Given the description of an element on the screen output the (x, y) to click on. 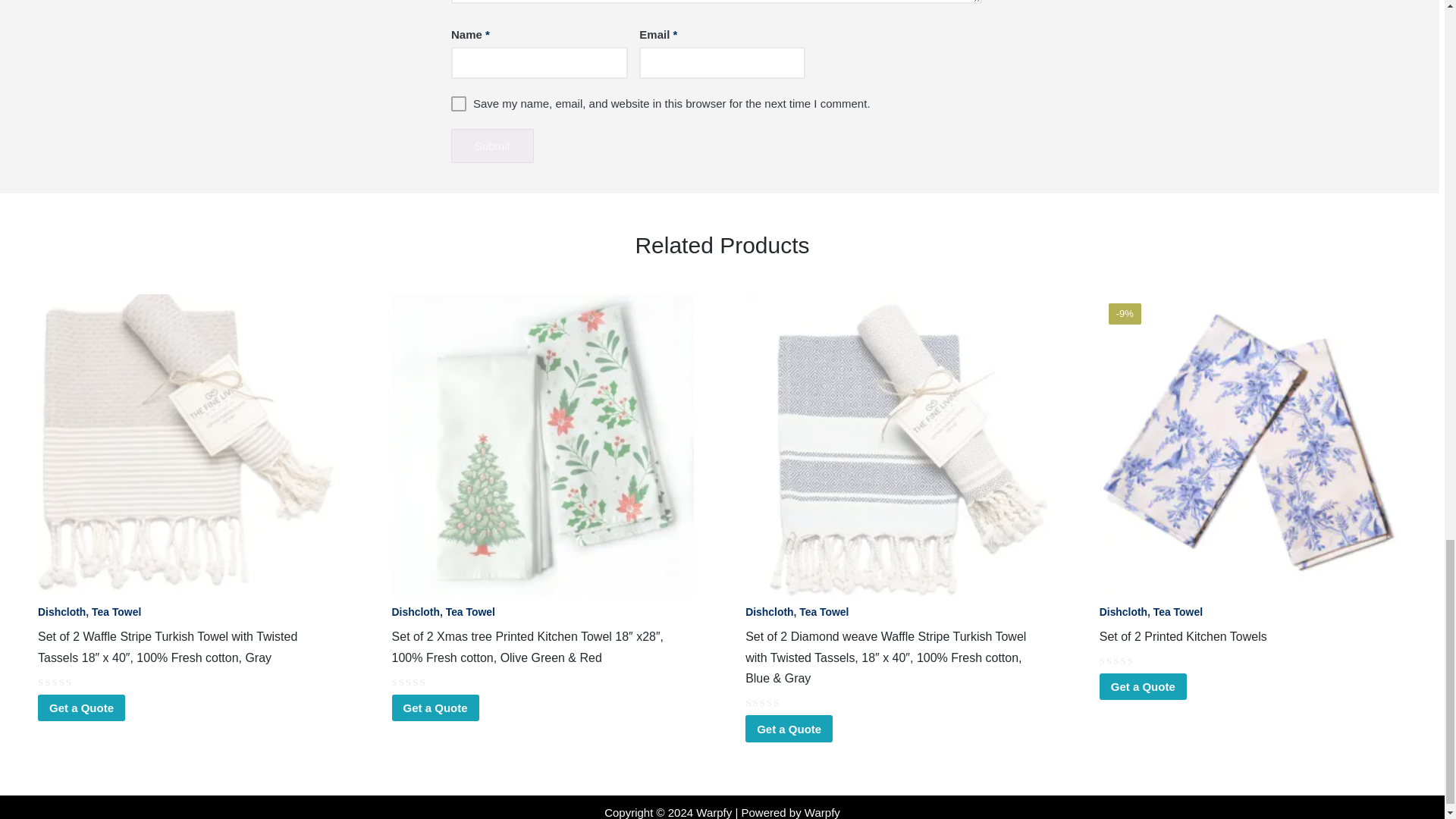
Tea Towel (470, 612)
Dishcloth (61, 612)
yes (458, 103)
Tea Towel (116, 612)
Get a Quote (435, 707)
Submit (492, 145)
Dishcloth (415, 612)
Get a Quote (81, 707)
Submit (492, 145)
